Given the description of an element on the screen output the (x, y) to click on. 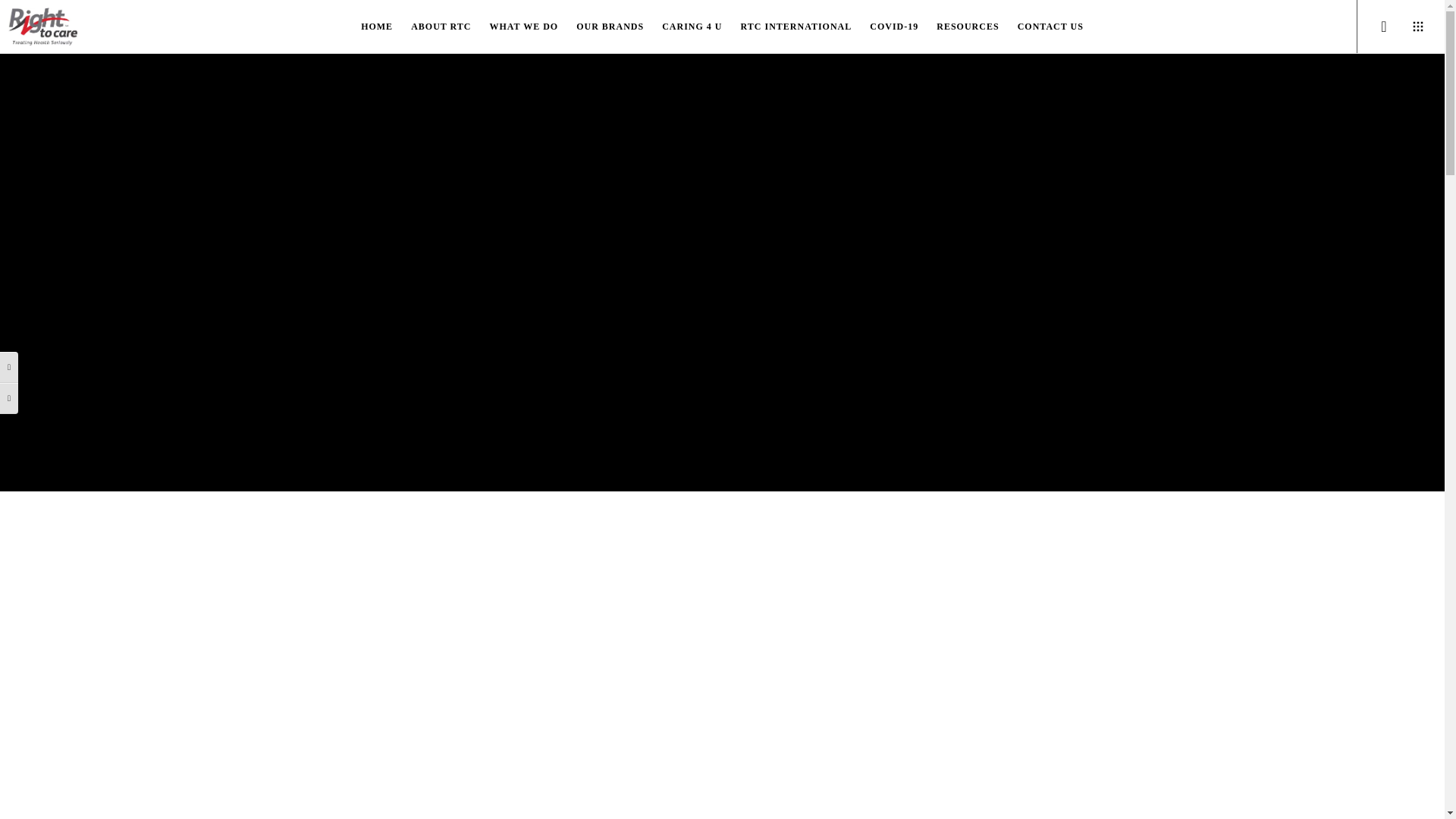
WHAT WE DO (523, 26)
ABOUT RTC (440, 26)
CARING 4 U (691, 26)
HOME (376, 26)
RTC INTERNATIONAL (796, 26)
OUR BRANDS (609, 26)
